Given the description of an element on the screen output the (x, y) to click on. 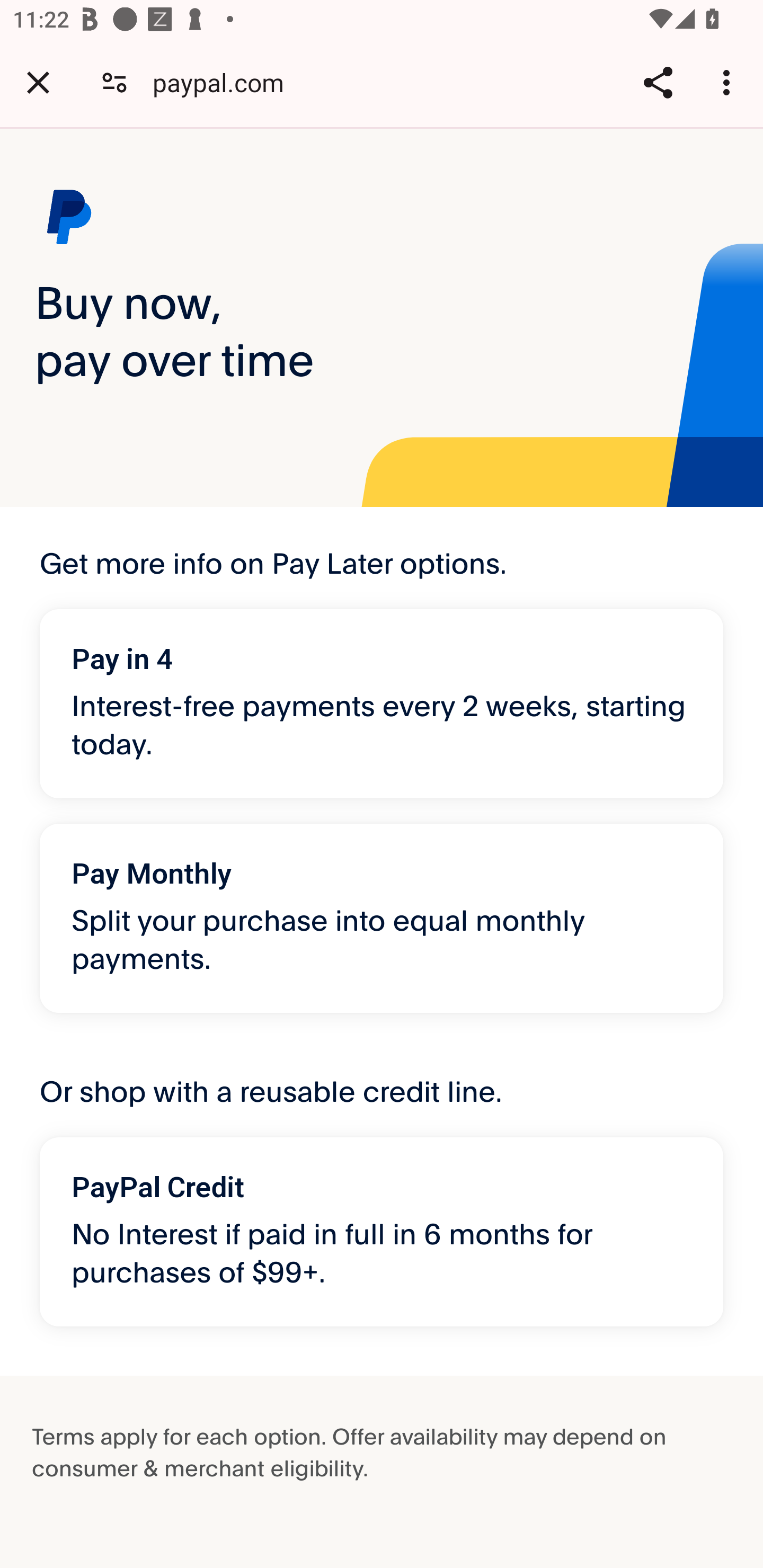
Close tab (38, 82)
Share (657, 82)
Customize and control Google Chrome (729, 82)
Connection is secure (114, 81)
paypal.com (224, 81)
